Given the description of an element on the screen output the (x, y) to click on. 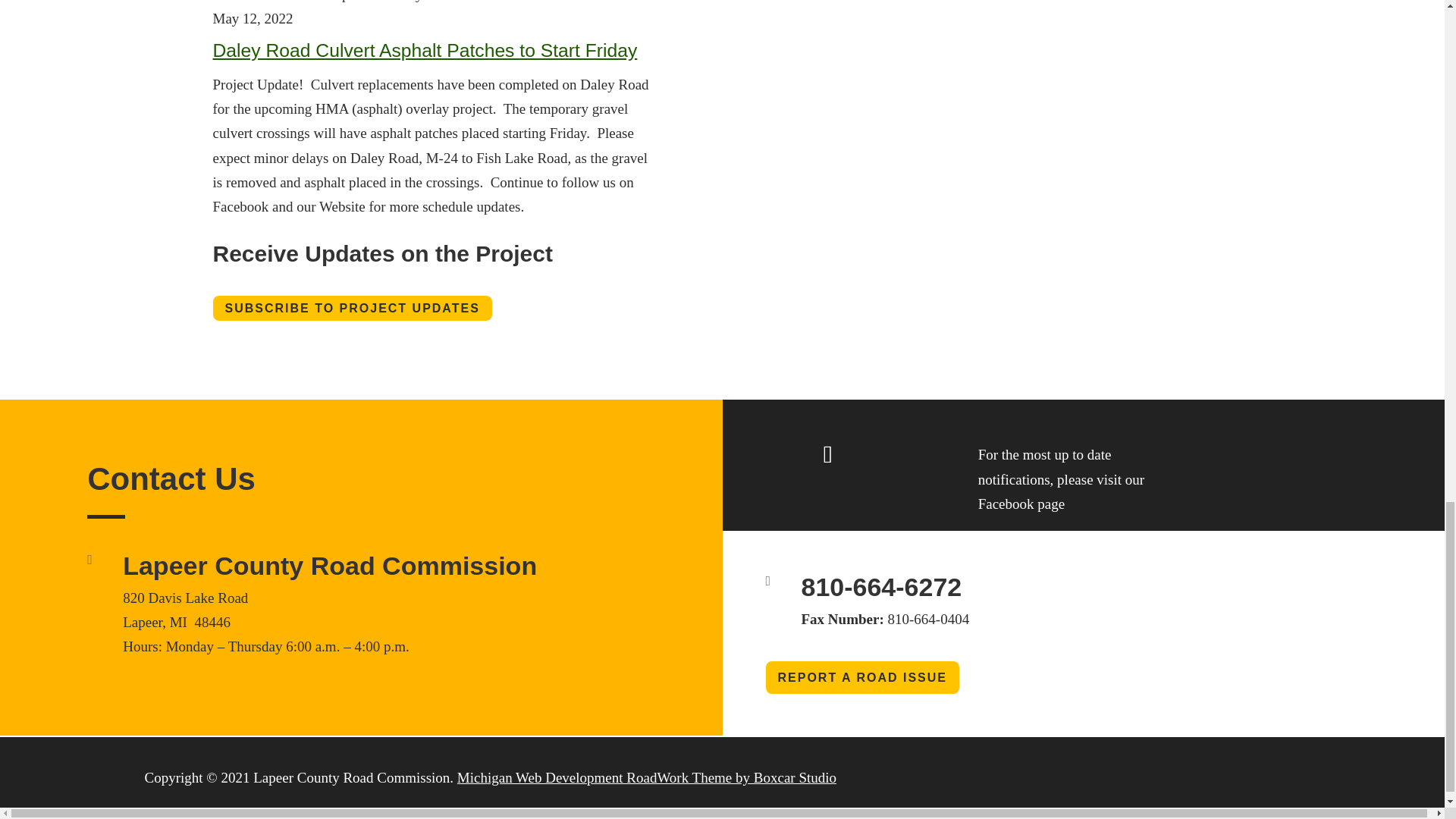
Daley Road Culvert Asphalt Patches to Start Friday (424, 50)
SUBSCRIBE TO PROJECT UPDATES (352, 307)
